Given the description of an element on the screen output the (x, y) to click on. 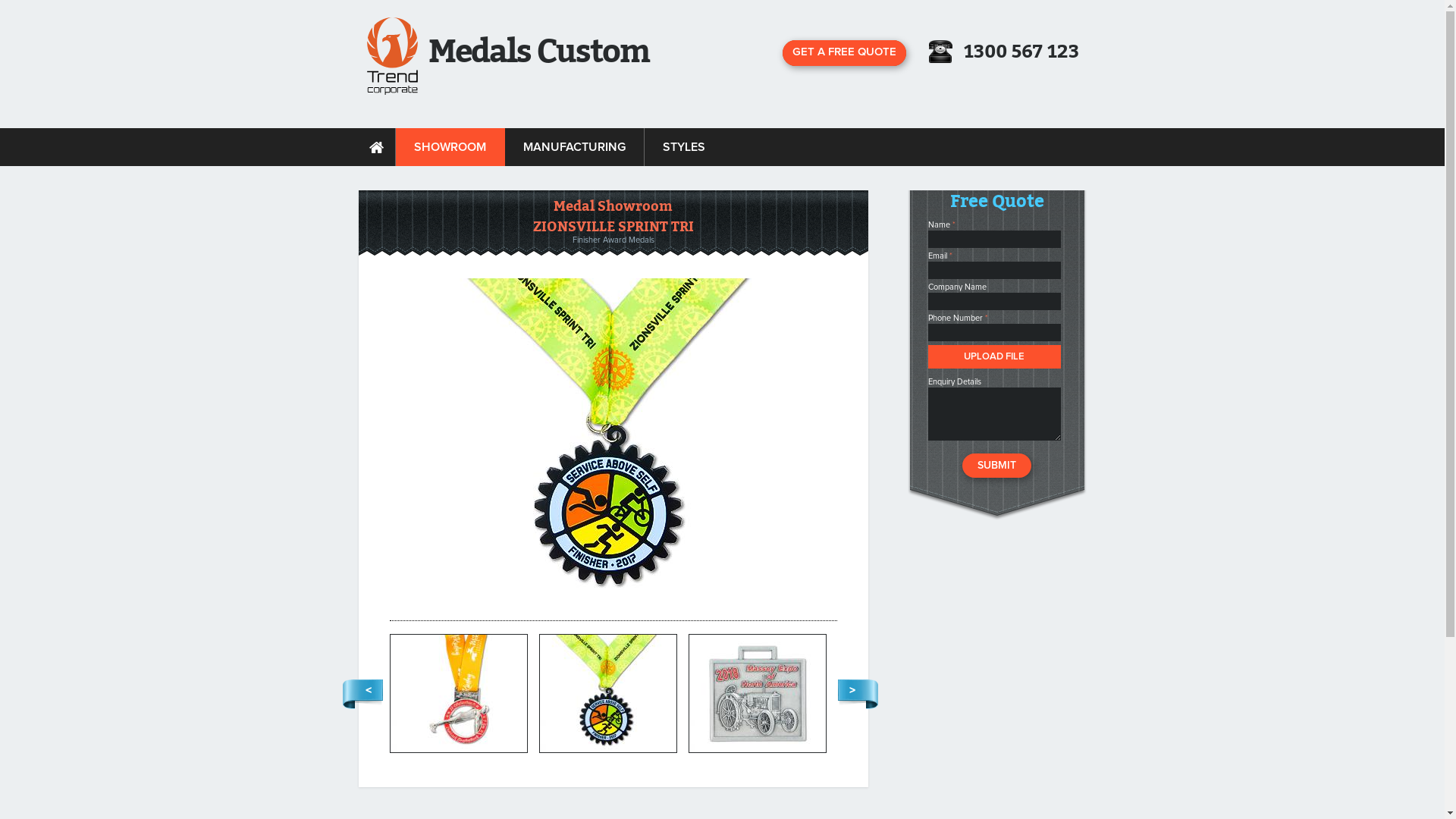
1300 567 123 Element type: text (1020, 51)
GET A FREE QUOTE Element type: text (844, 52)
HOME Element type: text (375, 147)
MANUFACTURING Element type: text (574, 147)
Skip to main content Element type: text (42, 0)
Submit Element type: text (996, 465)
Medals Custom Element type: hover (392, 55)
STYLES Element type: text (683, 147)
SHOWROOM Element type: text (449, 147)
UPLOAD FILE Element type: text (994, 356)
Medals Custom Element type: text (537, 49)
